Given the description of an element on the screen output the (x, y) to click on. 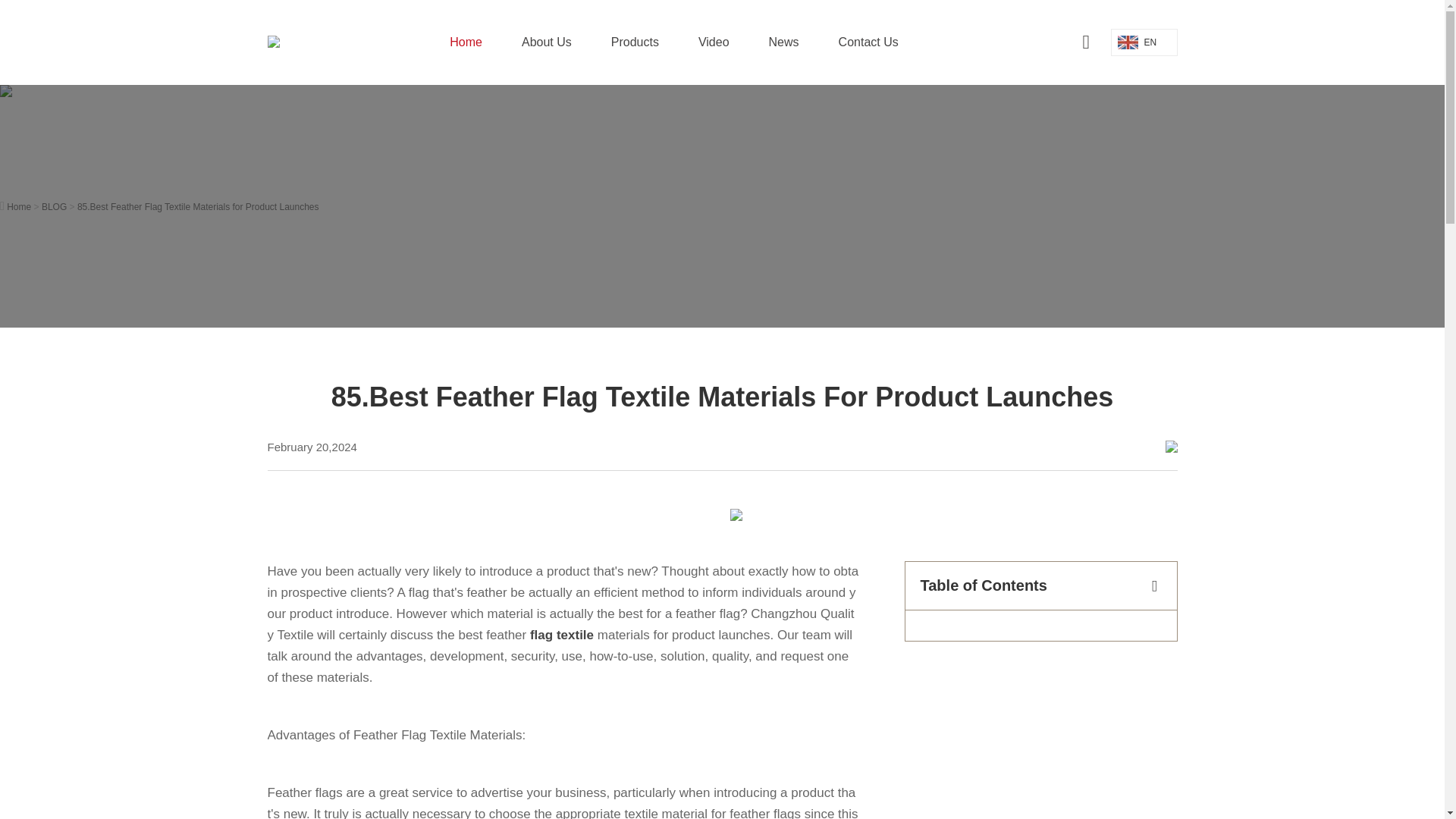
About Us (546, 42)
Home (465, 42)
Products (634, 42)
